Given the description of an element on the screen output the (x, y) to click on. 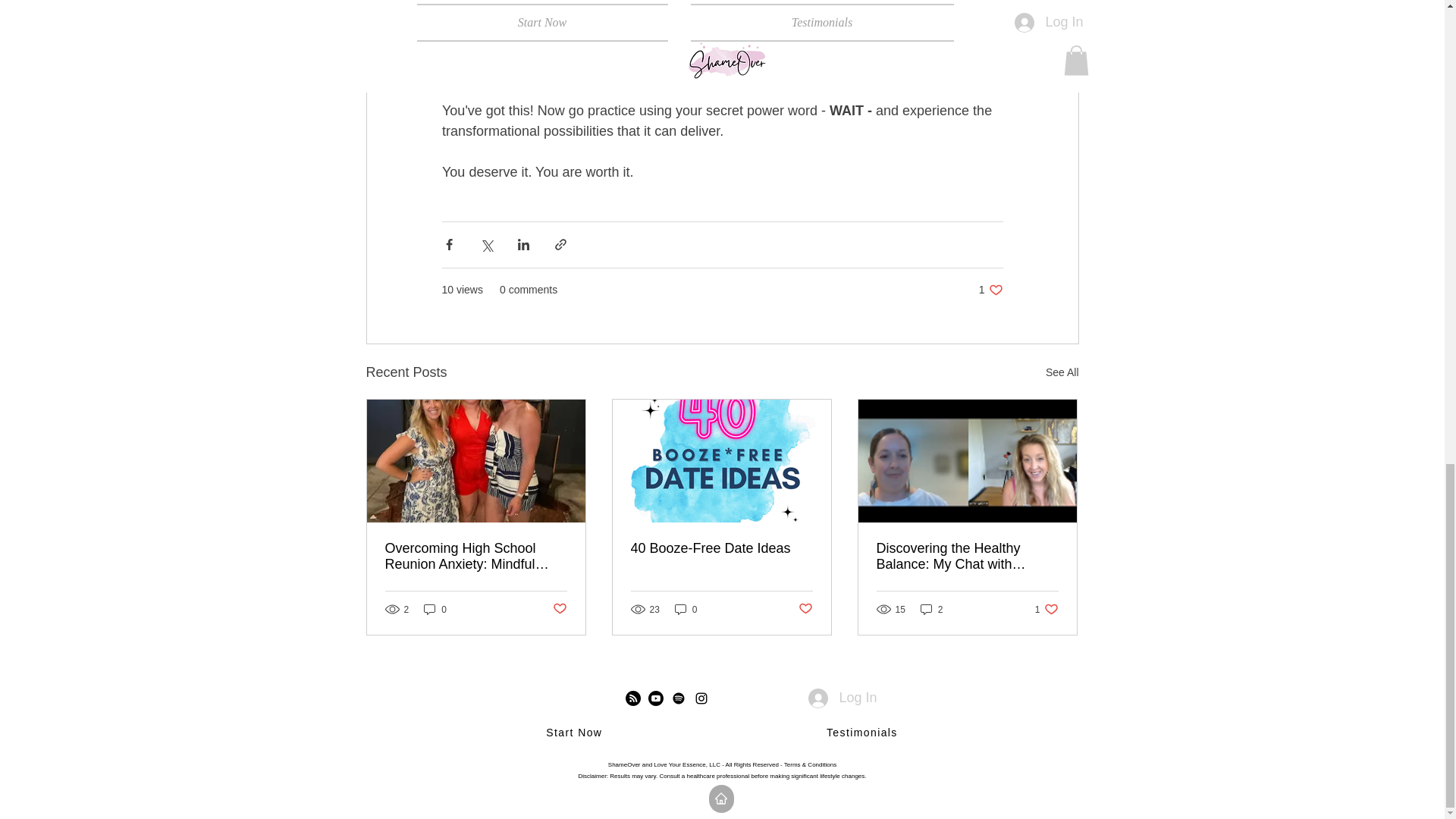
0 (990, 289)
See All (435, 608)
Post not marked as liked (1061, 372)
